Given the description of an element on the screen output the (x, y) to click on. 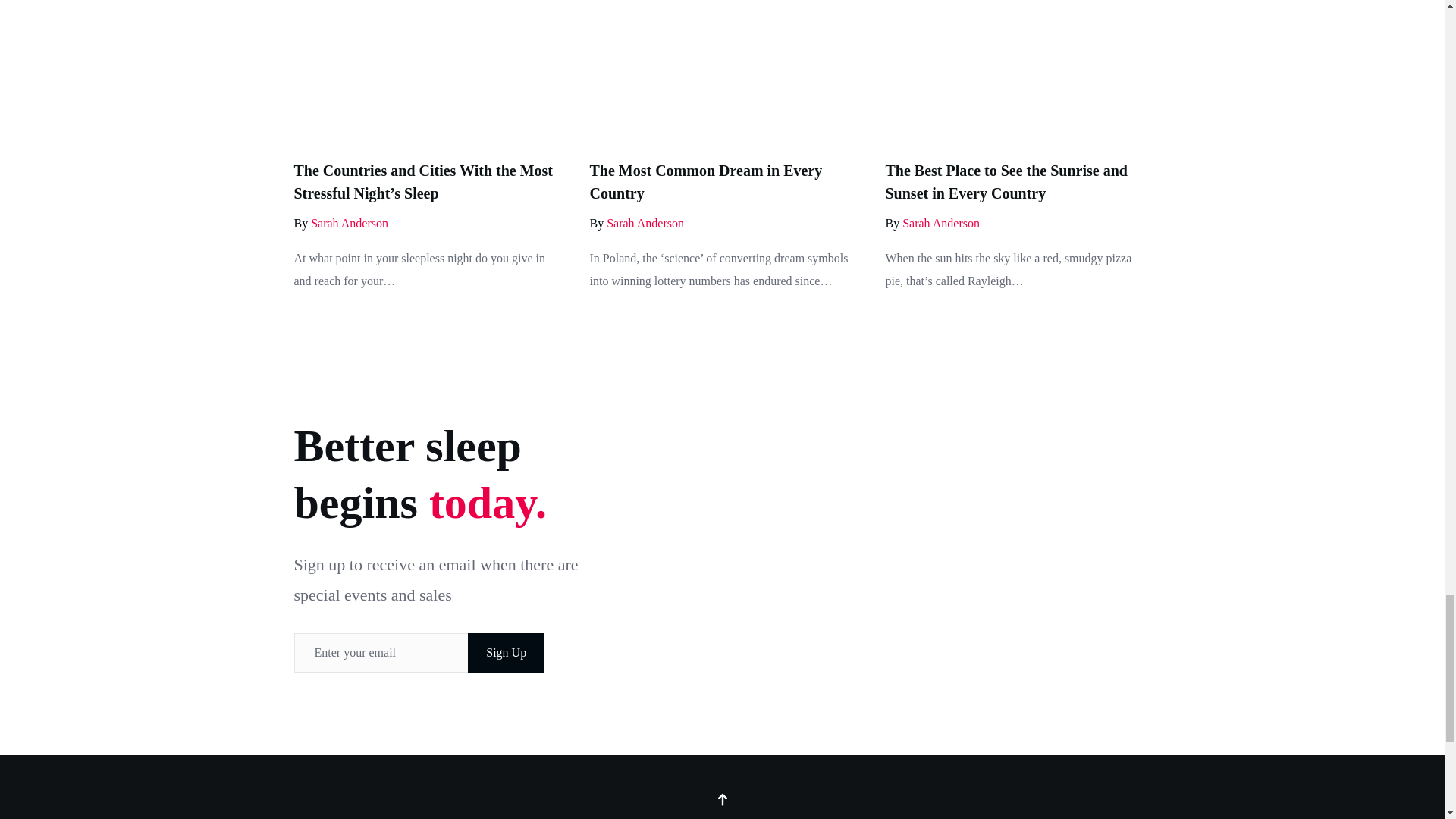
Sign Up (505, 652)
